Given the description of an element on the screen output the (x, y) to click on. 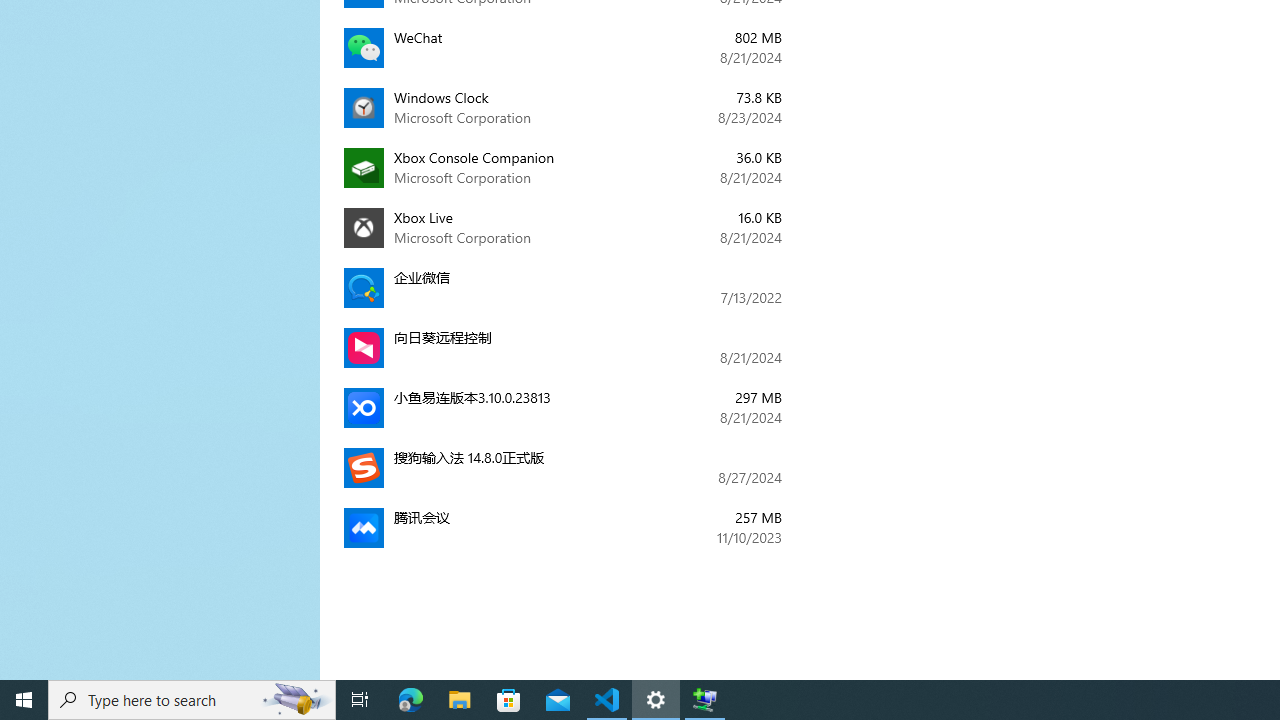
Start (24, 699)
Microsoft Edge (411, 699)
Visual Studio Code - 1 running window (607, 699)
